Given the description of an element on the screen output the (x, y) to click on. 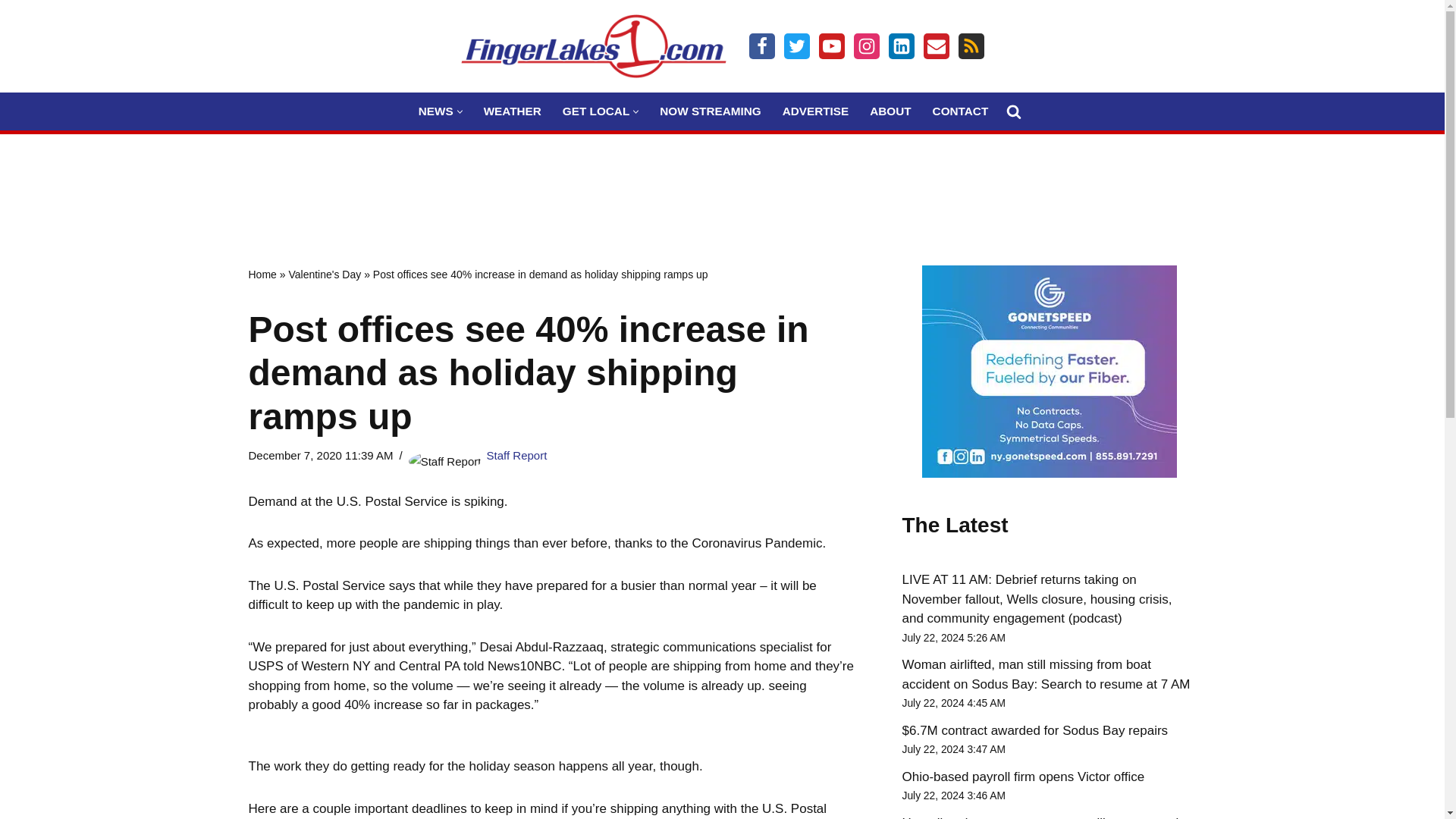
Facebook (761, 45)
Skip to content (11, 31)
GET LOCAL (595, 111)
LinkIn (901, 45)
WEATHER (512, 111)
Feed (971, 45)
Twitter (796, 45)
Posts by Staff Report (516, 454)
CONTACT (960, 111)
Email Us (936, 45)
Instagram (866, 45)
NEWS (435, 111)
NOW STREAMING (709, 111)
ADVERTISE (815, 111)
ABOUT (890, 111)
